Given the description of an element on the screen output the (x, y) to click on. 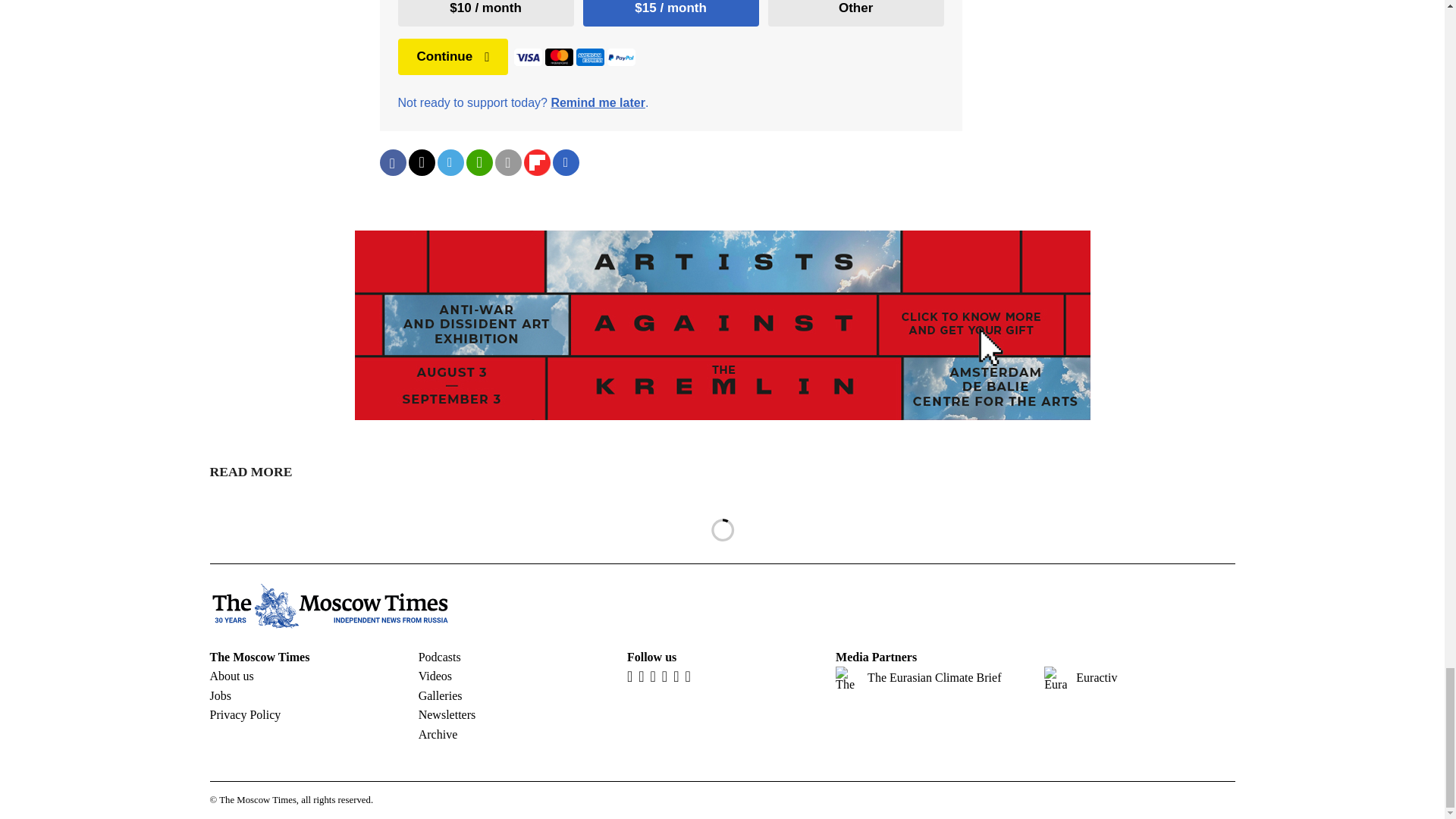
Share on Telegram (449, 162)
Share on Facebook (392, 162)
Share on Twitter (420, 162)
Share on Flipboard (536, 162)
